Given the description of an element on the screen output the (x, y) to click on. 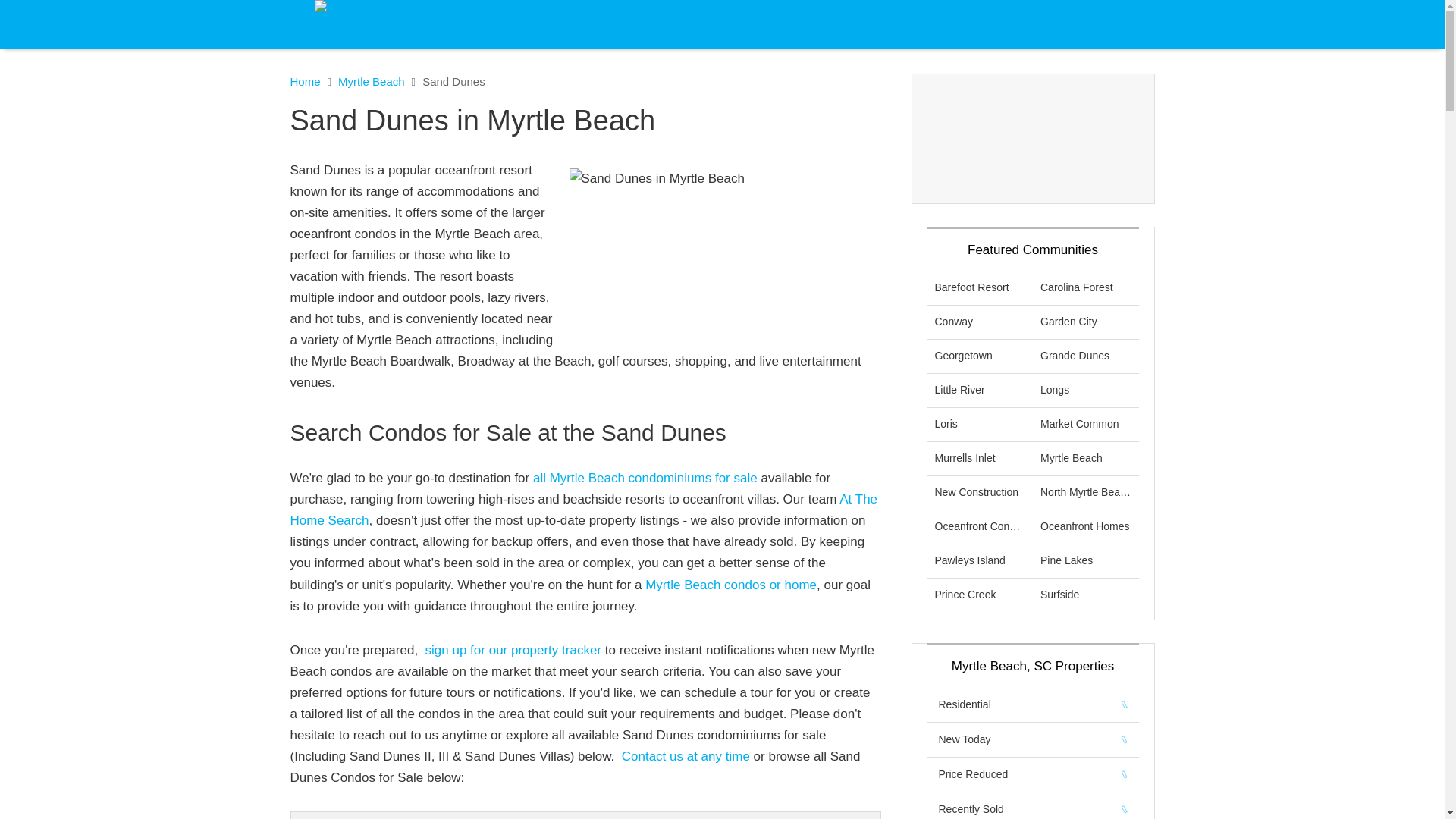
Sand Dunes in Myrtle Beach (720, 252)
